Given the description of an element on the screen output the (x, y) to click on. 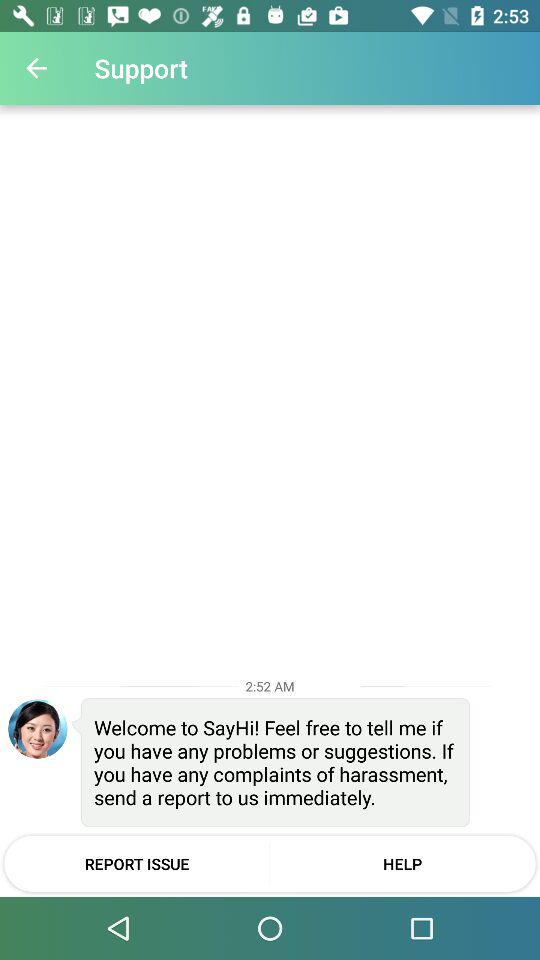
launch report issue item (136, 863)
